Given the description of an element on the screen output the (x, y) to click on. 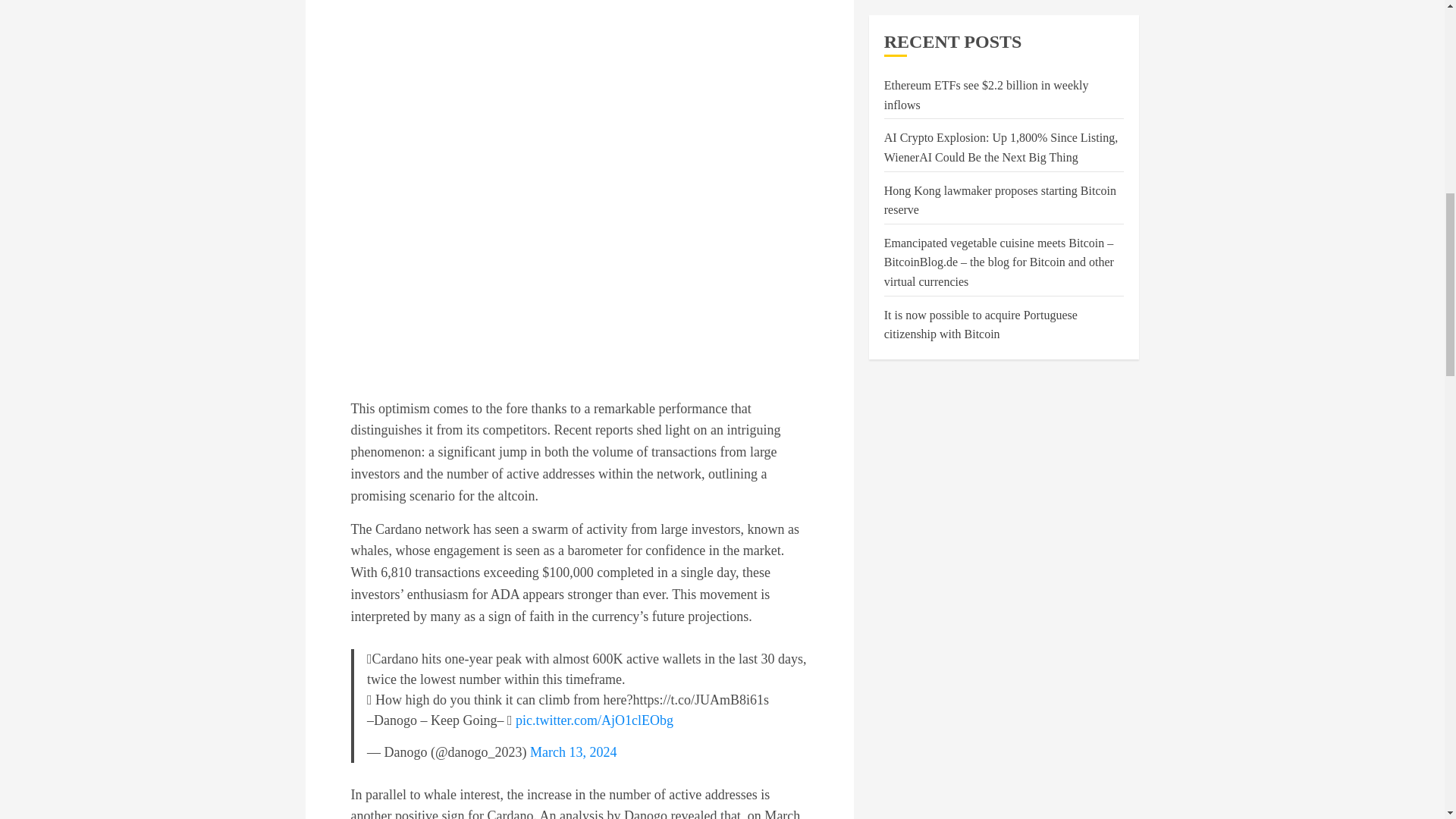
March 13, 2024 (572, 752)
